Given the description of an element on the screen output the (x, y) to click on. 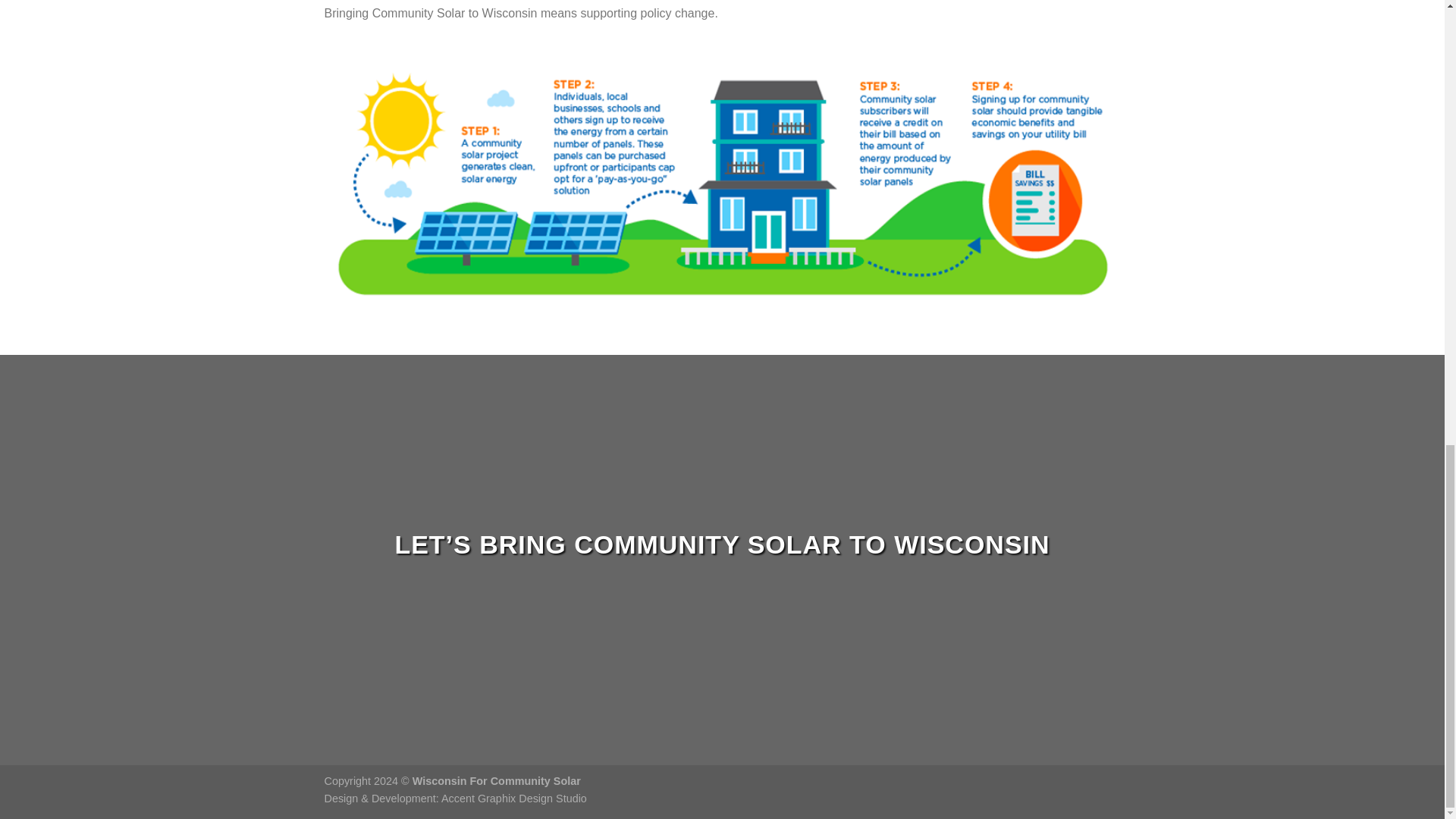
Accent Graphix Design Studio (513, 798)
